Given the description of an element on the screen output the (x, y) to click on. 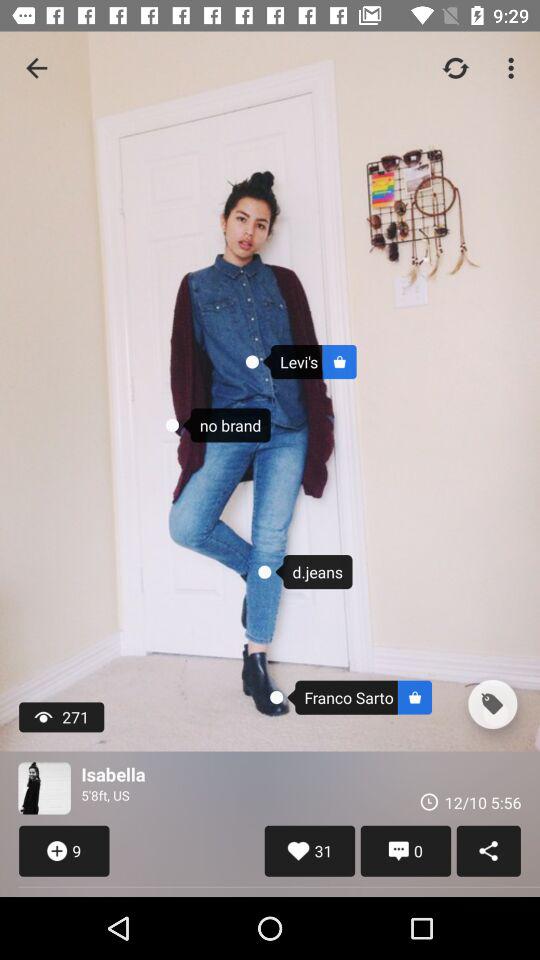
choose the item above 271 icon (36, 68)
